Given the description of an element on the screen output the (x, y) to click on. 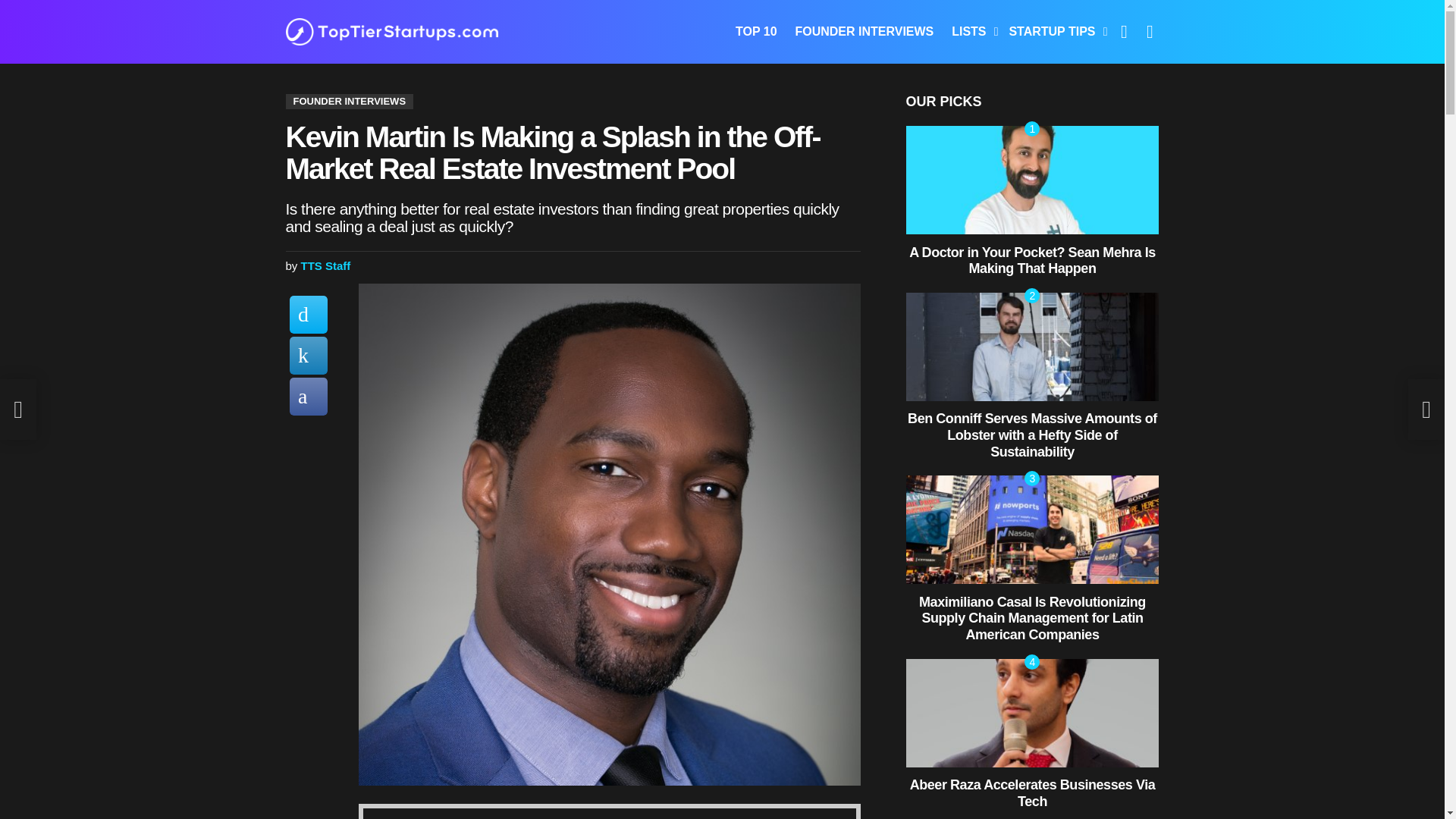
STARTUP TIPS (1053, 31)
Follow us (1123, 31)
TTS Staff (325, 265)
FOUNDER INTERVIEWS (863, 31)
LISTS (970, 31)
FOUNDER INTERVIEWS (349, 101)
Share on LinkedIn (308, 355)
Posts by TTS Staff (325, 265)
SEARCH (1149, 31)
TOP 10 (756, 31)
Share on Facebook (308, 396)
Share on Twitter (308, 314)
FOLLOW US (1123, 31)
